Given the description of an element on the screen output the (x, y) to click on. 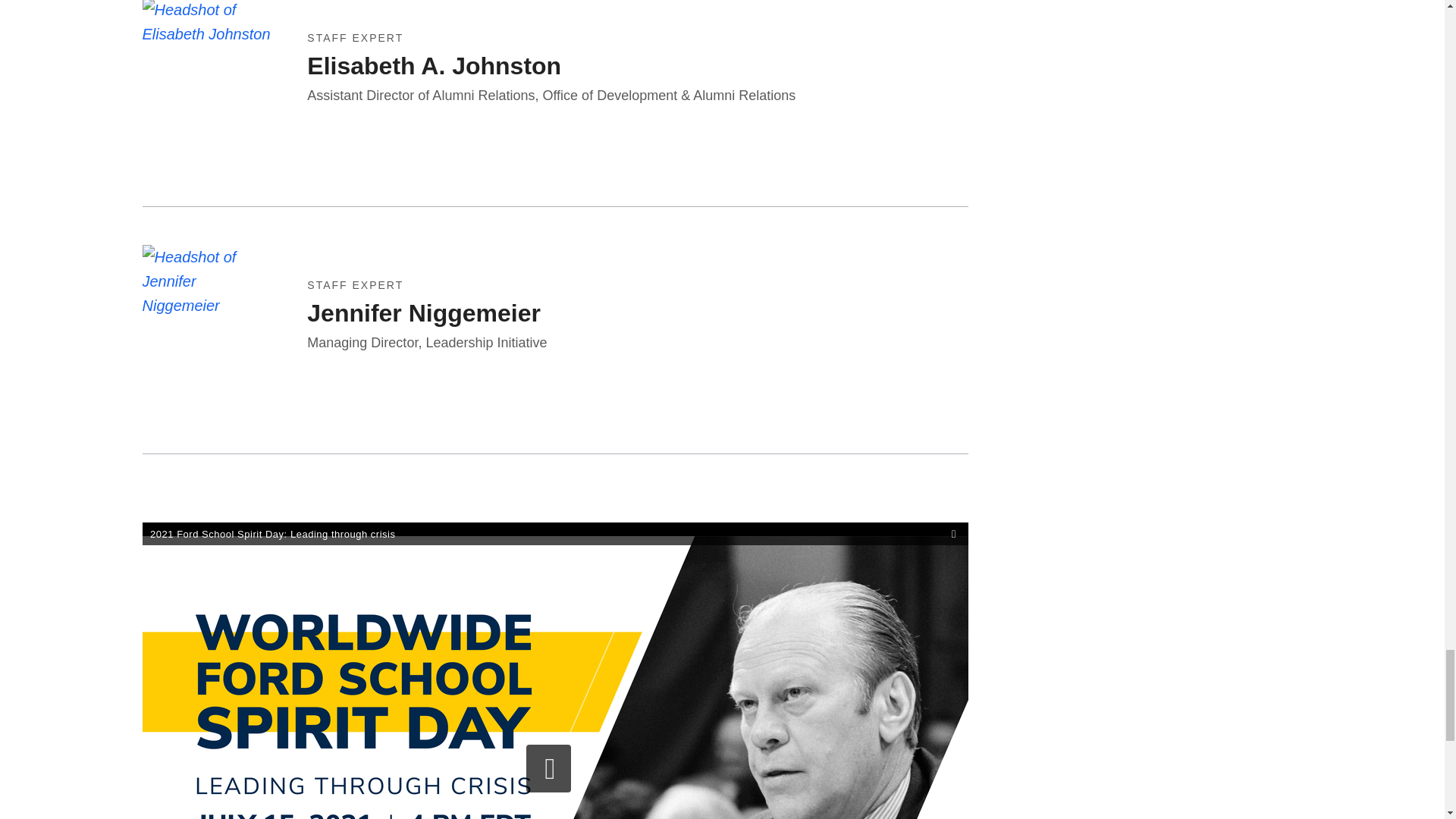
Elisabeth A. Johnston (433, 107)
Jennifer Niggemeier (423, 349)
